Given the description of an element on the screen output the (x, y) to click on. 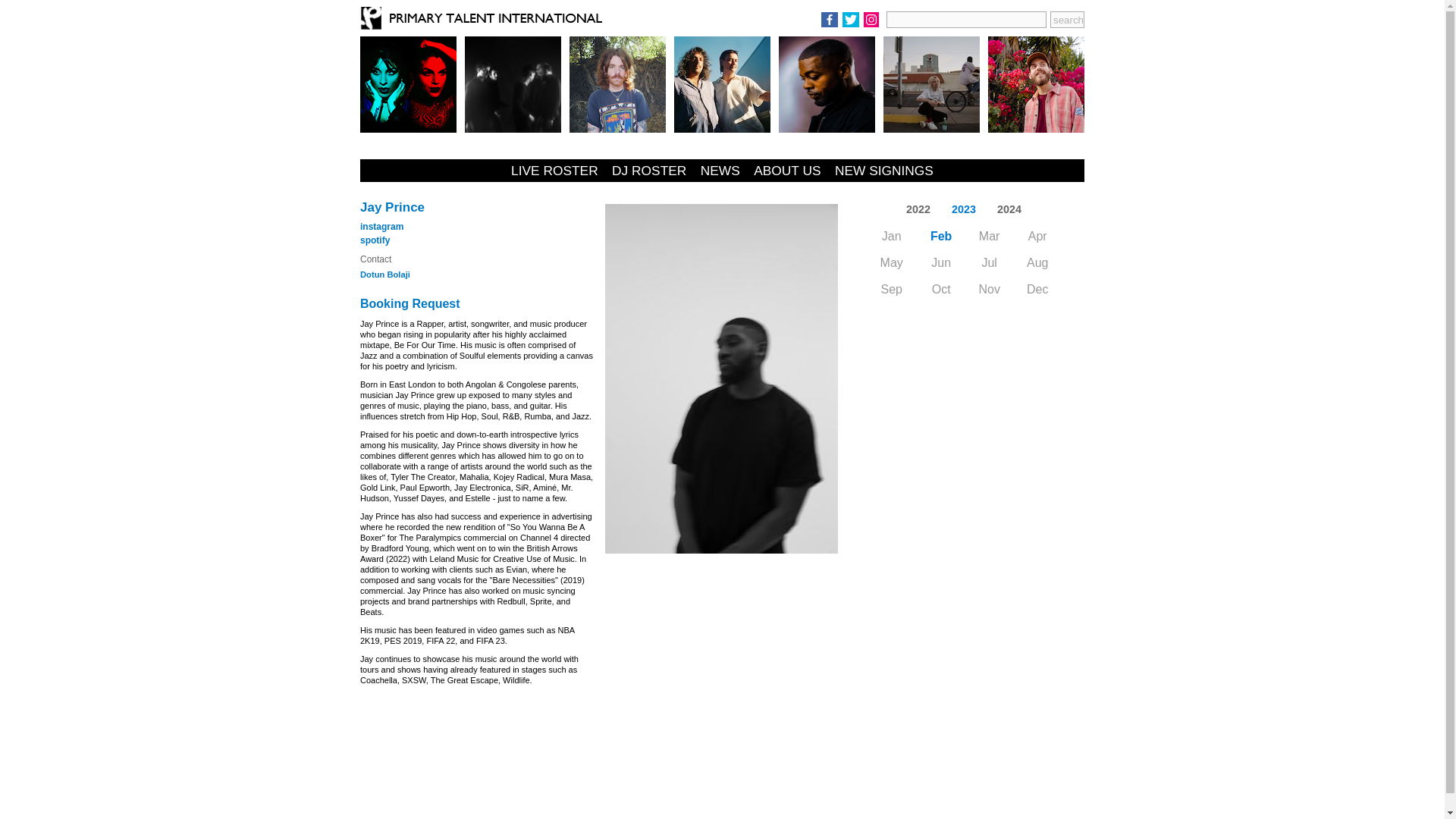
search (1066, 19)
NEWS (720, 169)
DJ ROSTER (649, 169)
Shouse (722, 84)
NEW SIGNINGS (883, 169)
Krewella (408, 84)
2024 (1009, 209)
Men I Trust (931, 84)
LIVE ROSTER (554, 169)
FONT (512, 84)
search (1066, 19)
Booking Request (409, 303)
spotify (374, 240)
Field Medic (617, 84)
ABOUT US (786, 169)
